Given the description of an element on the screen output the (x, y) to click on. 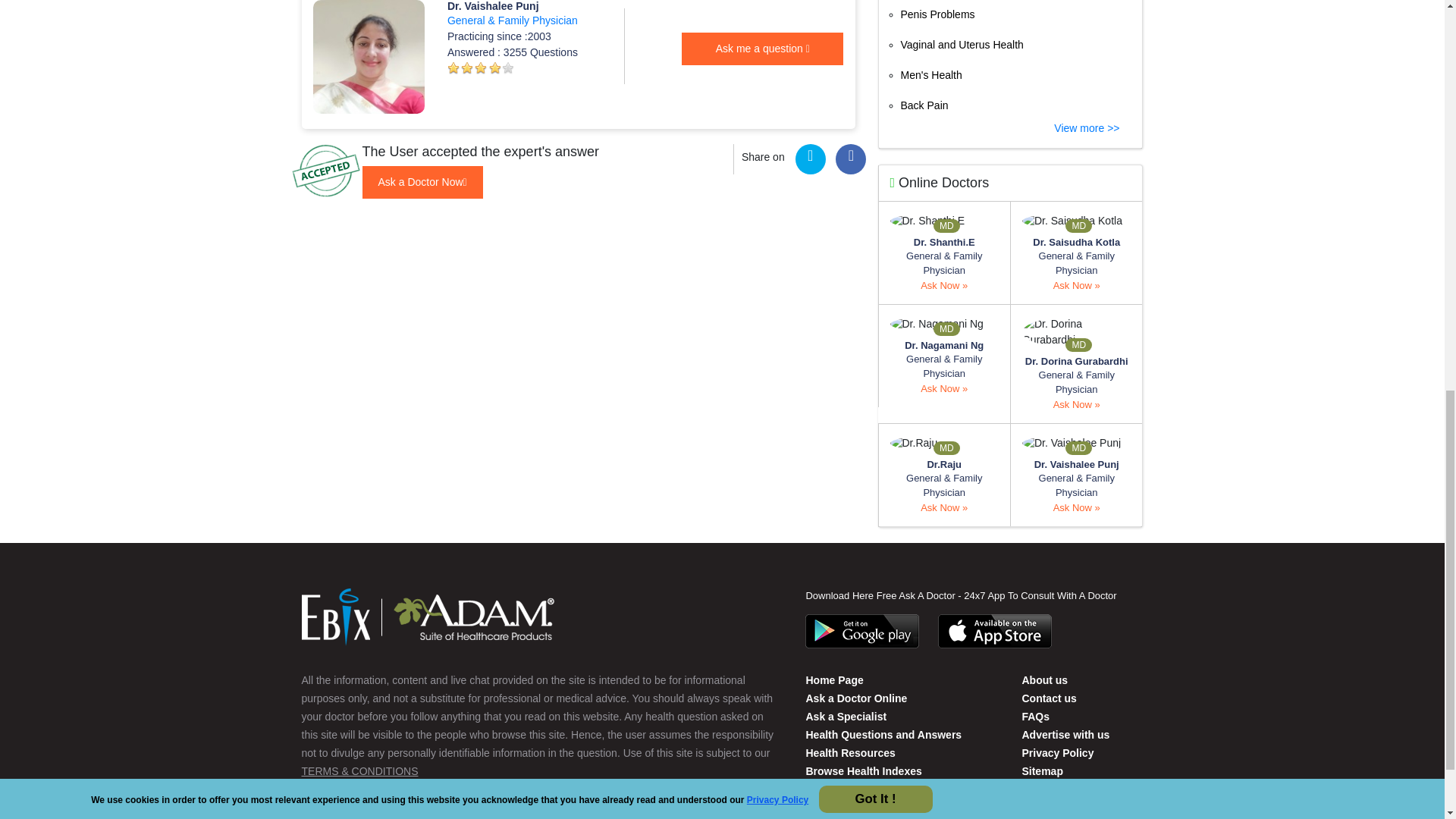
Recently Updated Questions (877, 788)
Privacy Policy (1057, 752)
Ask a Doctor Online (856, 698)
Contact us (1048, 698)
Advertise with us (1065, 734)
Ask a Specialist (845, 716)
Health Questions and Answers (882, 734)
Health Resources (850, 752)
Browse Health Indexes (863, 770)
Health Blog (816, 807)
FAQs (1035, 716)
Home Page (834, 680)
Sitemap (1042, 770)
Contact us (1044, 680)
